Given the description of an element on the screen output the (x, y) to click on. 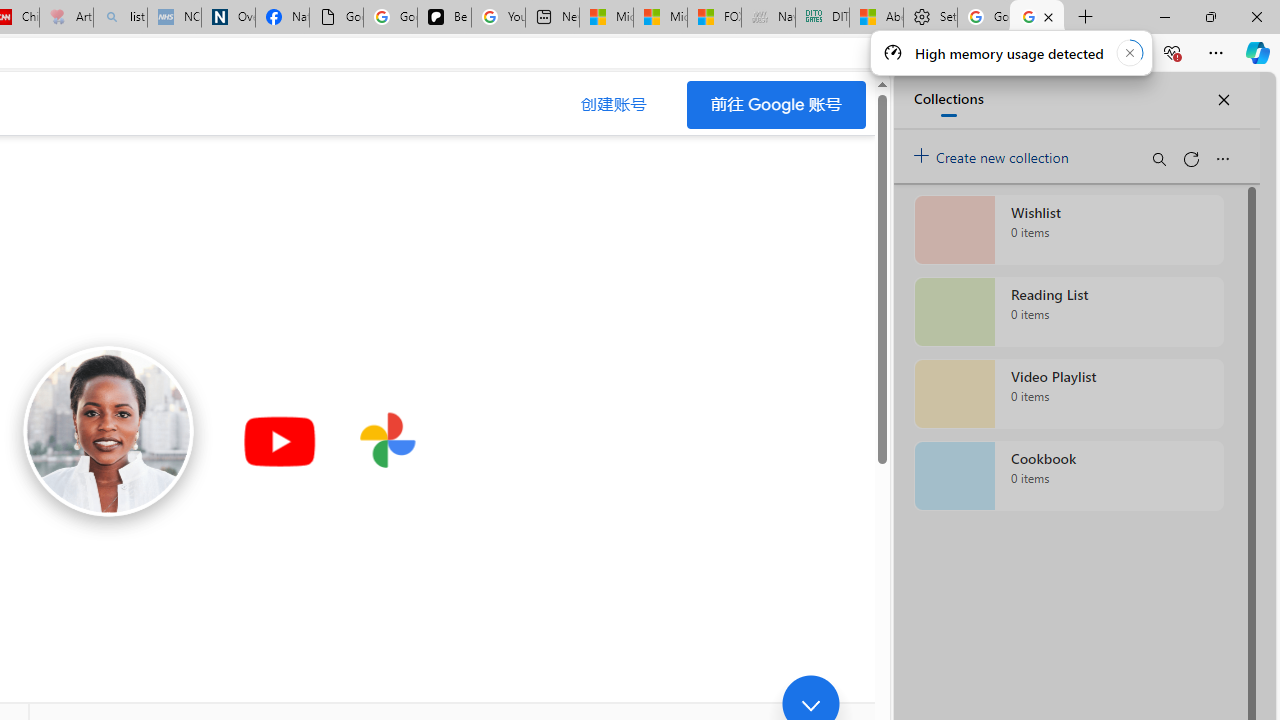
FOX News - MSN (714, 17)
Arthritis: Ask Health Professionals - Sleeping (66, 17)
Google Analytics Opt-out Browser Add-on Download Page (336, 17)
